Given the description of an element on the screen output the (x, y) to click on. 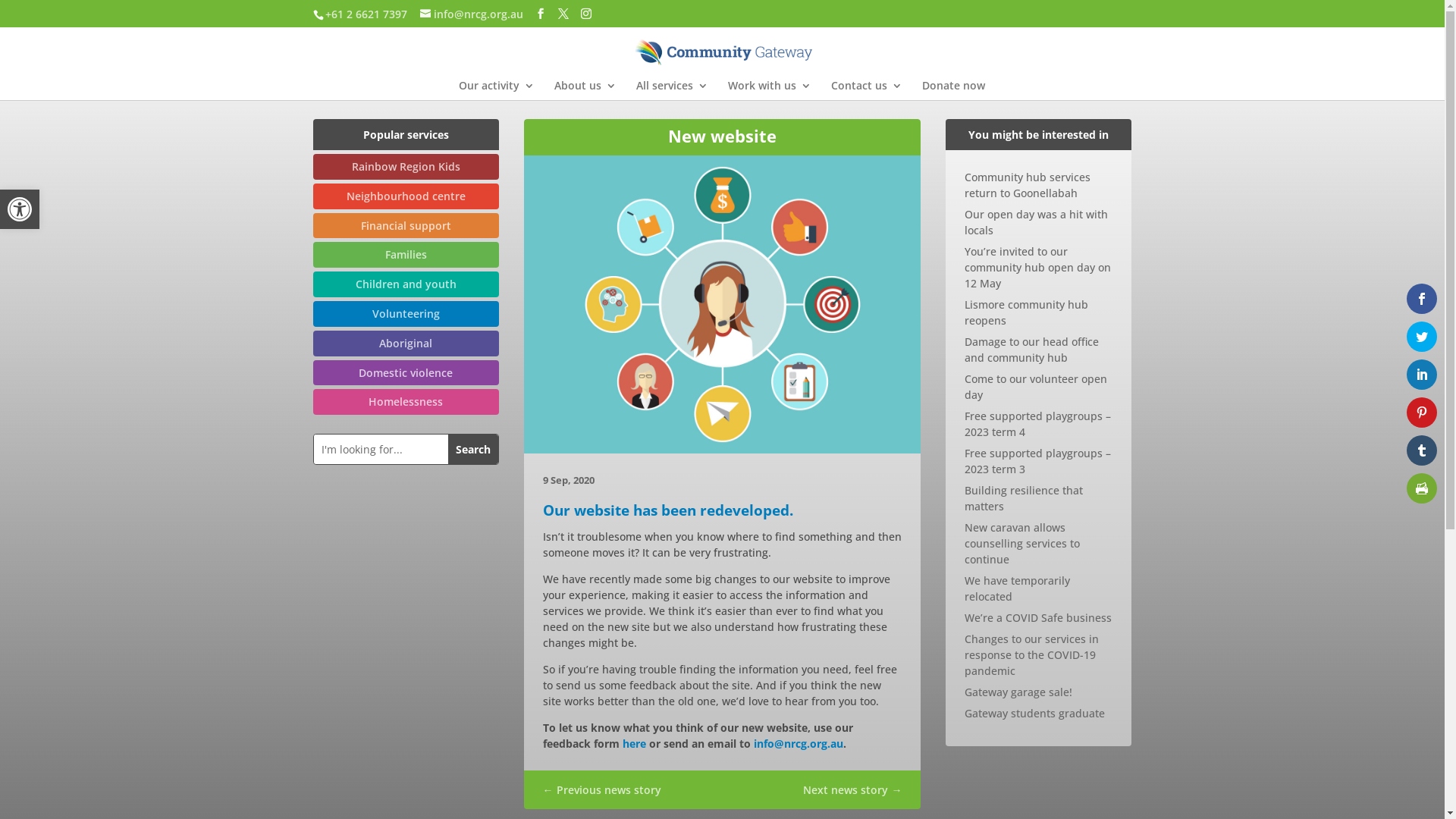
Lismore community hub reopens Element type: text (1026, 312)
About us Element type: text (584, 90)
Gateway students graduate Element type: text (1034, 713)
here Element type: text (634, 743)
Building resilience that matters Element type: text (1023, 498)
Connection Element type: hover (722, 304)
Damage to our head office and community hub Element type: text (1031, 349)
Families Element type: text (405, 254)
Neighbourhood centre Element type: text (405, 196)
Work with us Element type: text (769, 90)
Changes to our services in response to the COVID-19 pandemic Element type: text (1031, 654)
Financial support Element type: text (405, 225)
info@nrcg.org.au Element type: text (471, 13)
Volunteering Element type: text (405, 313)
info@nrcg.org.au Element type: text (798, 743)
Open toolbar
Accessibility options Element type: text (19, 209)
We have temporarily relocated Element type: text (1017, 588)
Community hub services return to Goonellabah Element type: text (1027, 184)
All services Element type: text (671, 90)
Gateway garage sale! Element type: text (1018, 691)
New caravan allows counselling services to continue Element type: text (1021, 543)
Our open day was a hit with locals Element type: text (1035, 222)
Come to our volunteer open day Element type: text (1035, 386)
Search Element type: text (473, 449)
Homelessness Element type: text (405, 401)
Donate now Element type: text (953, 90)
Rainbow Region Kids Element type: text (405, 166)
Our activity Element type: text (495, 90)
Domestic violence Element type: text (405, 372)
Children and youth Element type: text (405, 284)
Contact us Element type: text (866, 90)
Aboriginal Element type: text (405, 343)
